Given the description of an element on the screen output the (x, y) to click on. 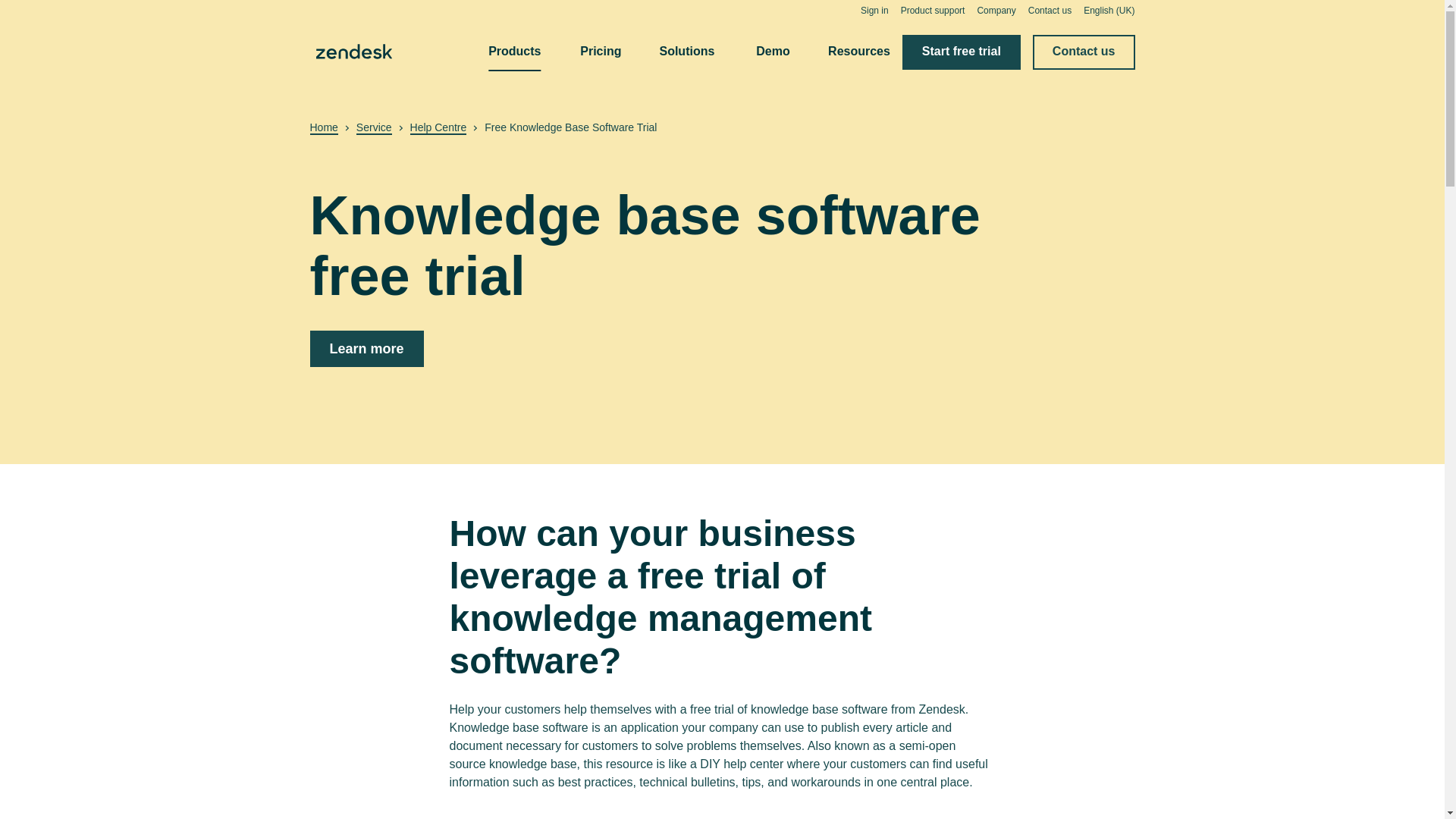
Company (995, 9)
Demo (772, 52)
Sign in (874, 9)
Contact us (1049, 9)
Product support (933, 9)
